Given the description of an element on the screen output the (x, y) to click on. 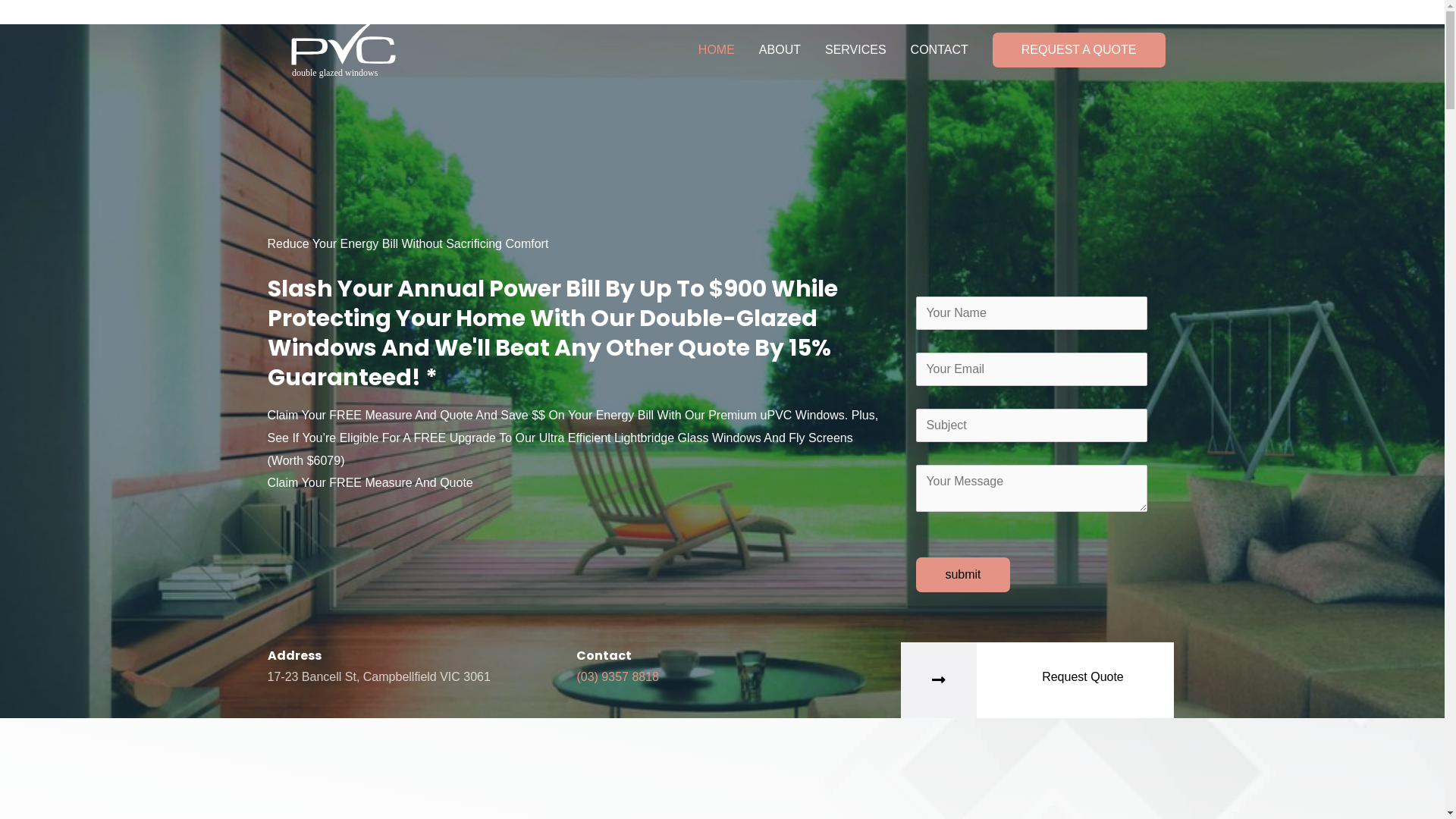
CONTACT Element type: text (939, 49)
submit Element type: text (962, 574)
REQUEST A QUOTE Element type: text (1078, 49)
ABOUT Element type: text (779, 49)
(03) 9357 8818 Element type: text (617, 676)
SERVICES Element type: text (855, 49)
HOME Element type: text (716, 49)
